Given the description of an element on the screen output the (x, y) to click on. 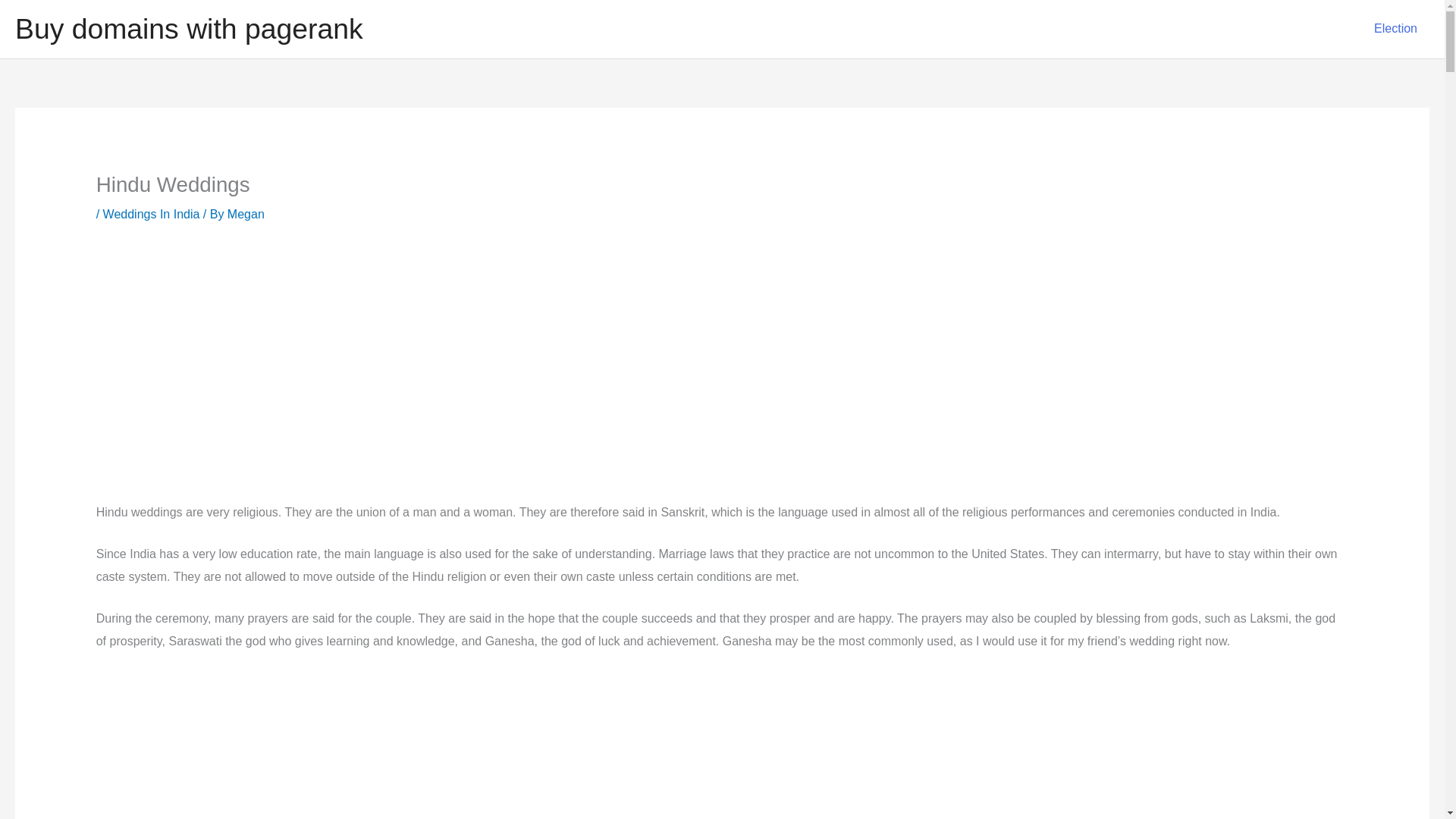
Advertisement (721, 353)
Election (1395, 28)
Advertisement (721, 745)
View all posts by Megan (245, 214)
Buy domains with pagerank (188, 29)
